Given the description of an element on the screen output the (x, y) to click on. 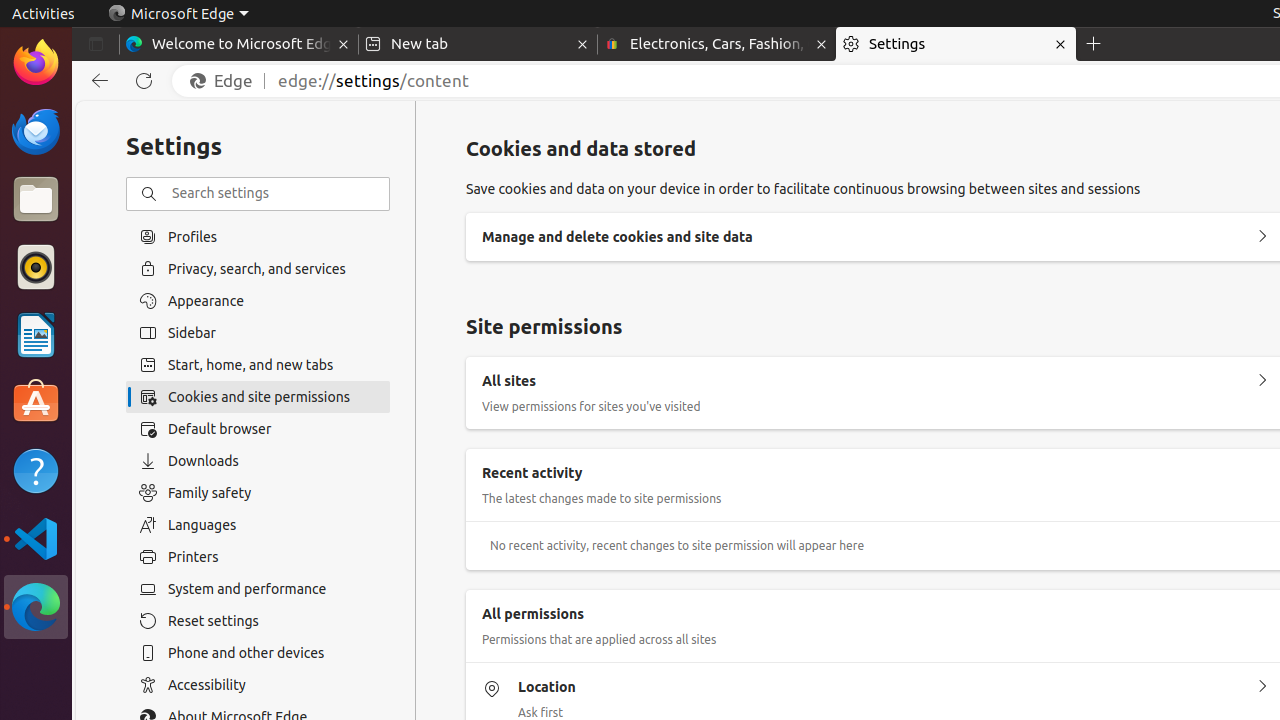
Phone and other devices Element type: tree-item (258, 653)
New tab Element type: page-tab (478, 44)
Profiles Element type: tree-item (258, 236)
Firefox Web Browser Element type: push-button (36, 63)
Settings Element type: page-tab (956, 44)
